Given the description of an element on the screen output the (x, y) to click on. 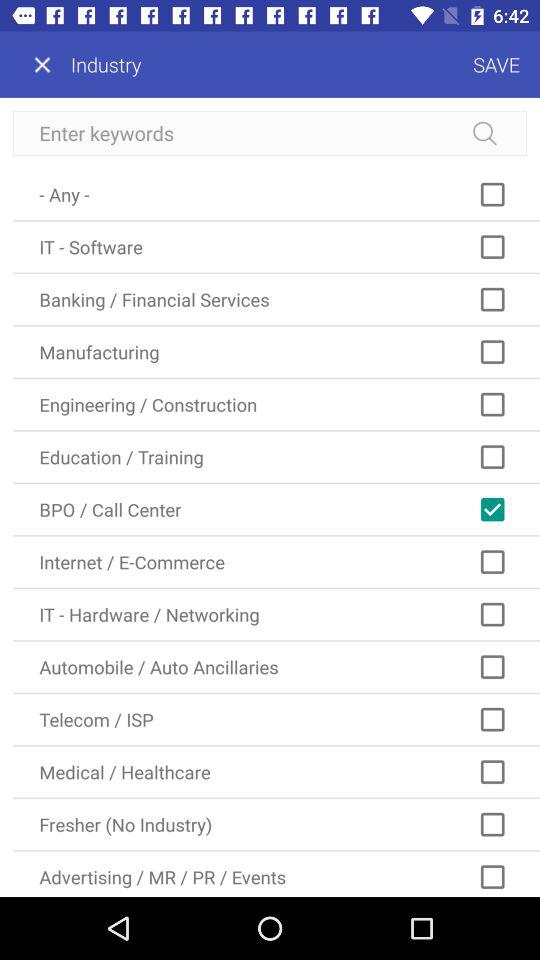
swipe until the fresher (no industry) item (276, 824)
